Given the description of an element on the screen output the (x, y) to click on. 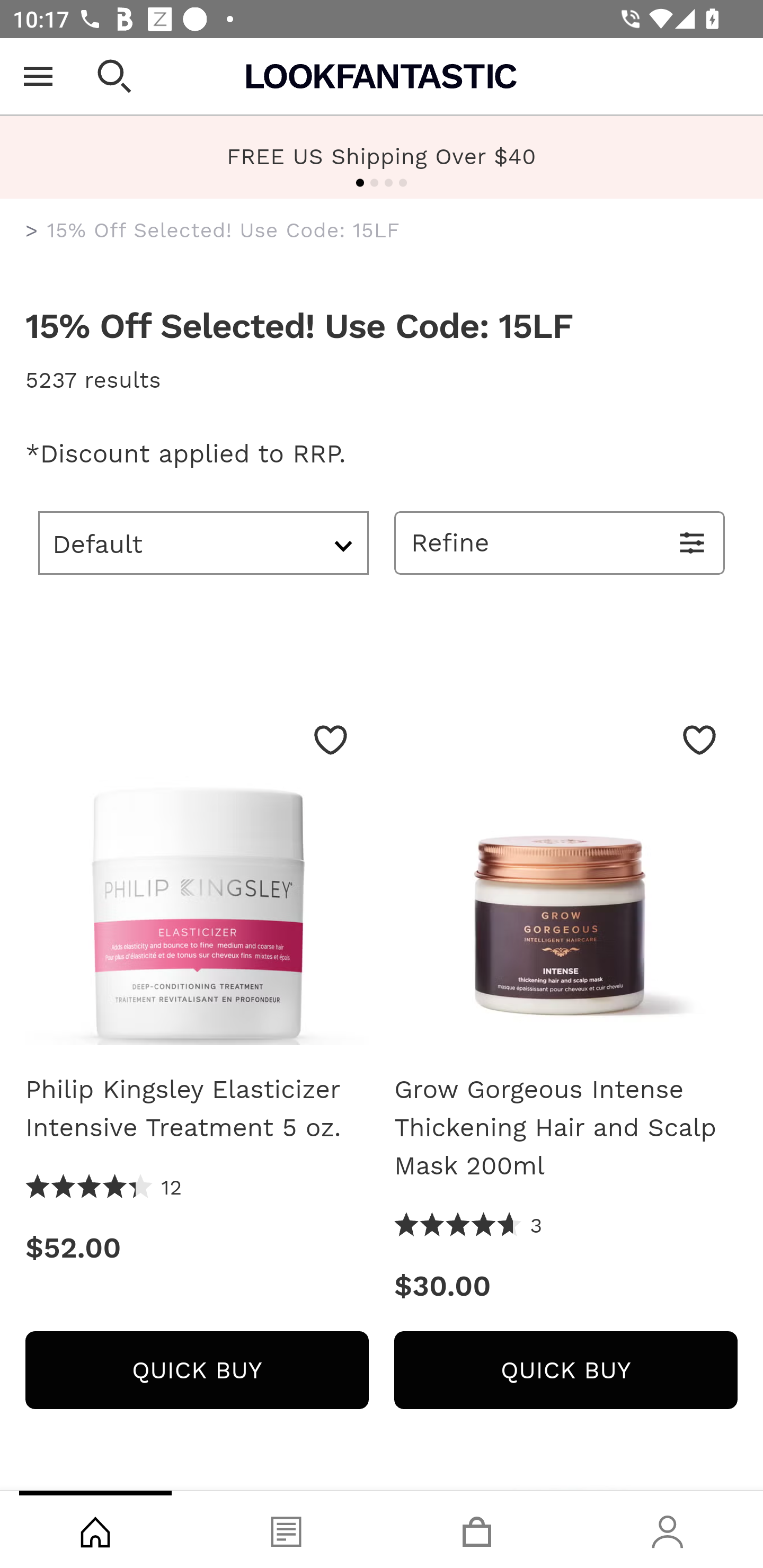
Open Menu (38, 75)
Open search (114, 75)
Lookfantastic USA (381, 75)
FREE US Shipping Over $40 (381, 157)
FREE US Shipping Over $40 (381, 155)
us.lookfantastic (32, 230)
Default (203, 542)
Refine (559, 542)
Save to Wishlist (330, 740)
Save to Wishlist (698, 740)
4.33 Stars 12 Reviews (104, 1187)
4.67 Stars 3 Reviews (468, 1225)
Price: $52.00 (196, 1247)
Price: $30.00 (565, 1286)
Shop, tab, 1 of 4 (95, 1529)
Blog, tab, 2 of 4 (285, 1529)
Basket, tab, 3 of 4 (476, 1529)
Account, tab, 4 of 4 (667, 1529)
